Given the description of an element on the screen output the (x, y) to click on. 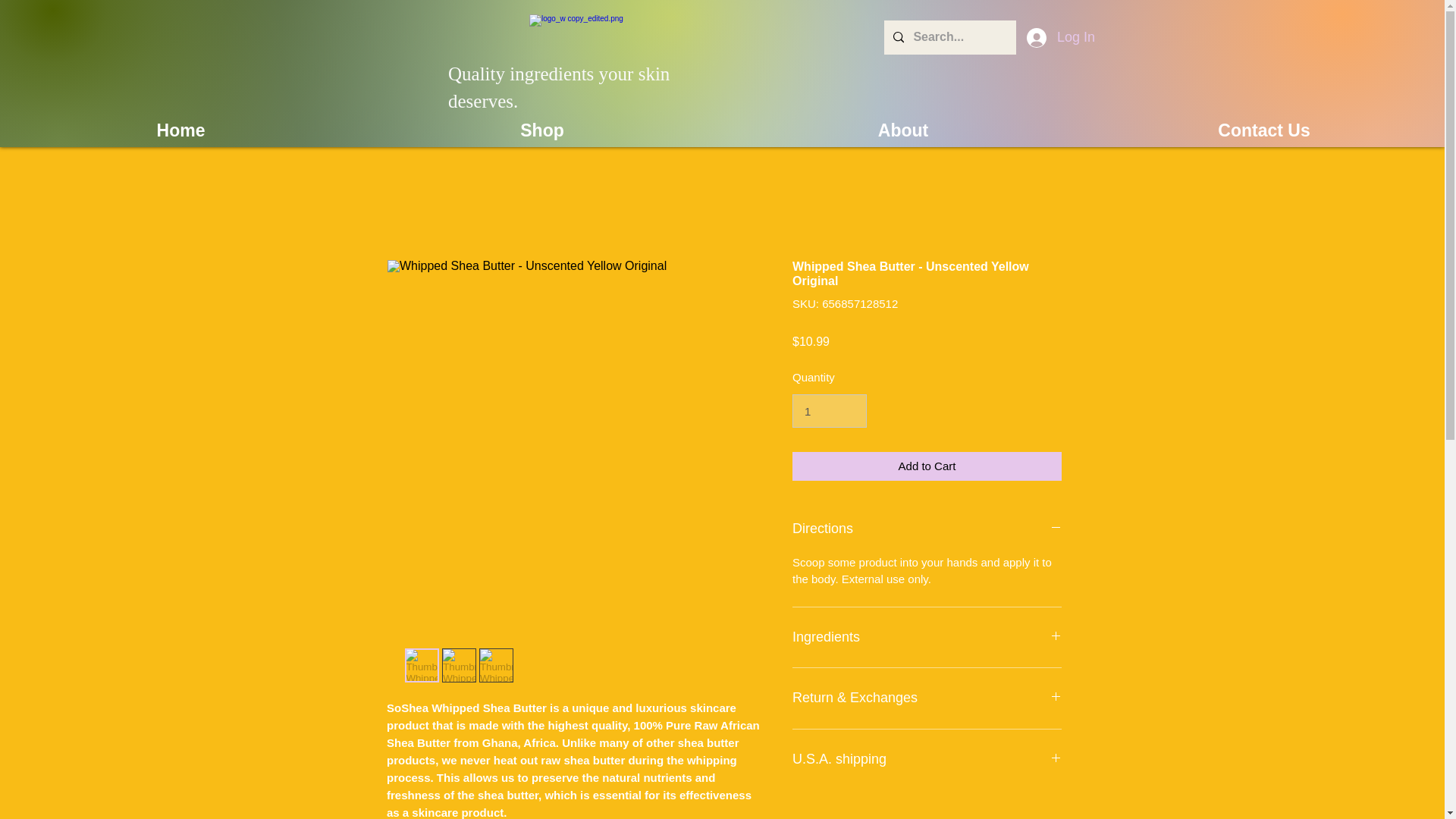
Directions (926, 528)
U.S.A. shipping (926, 759)
Log In (1043, 37)
Add to Cart (926, 466)
Ingredients (926, 637)
About (902, 130)
Shop (541, 130)
Home (180, 130)
1 (829, 410)
